Given the description of an element on the screen output the (x, y) to click on. 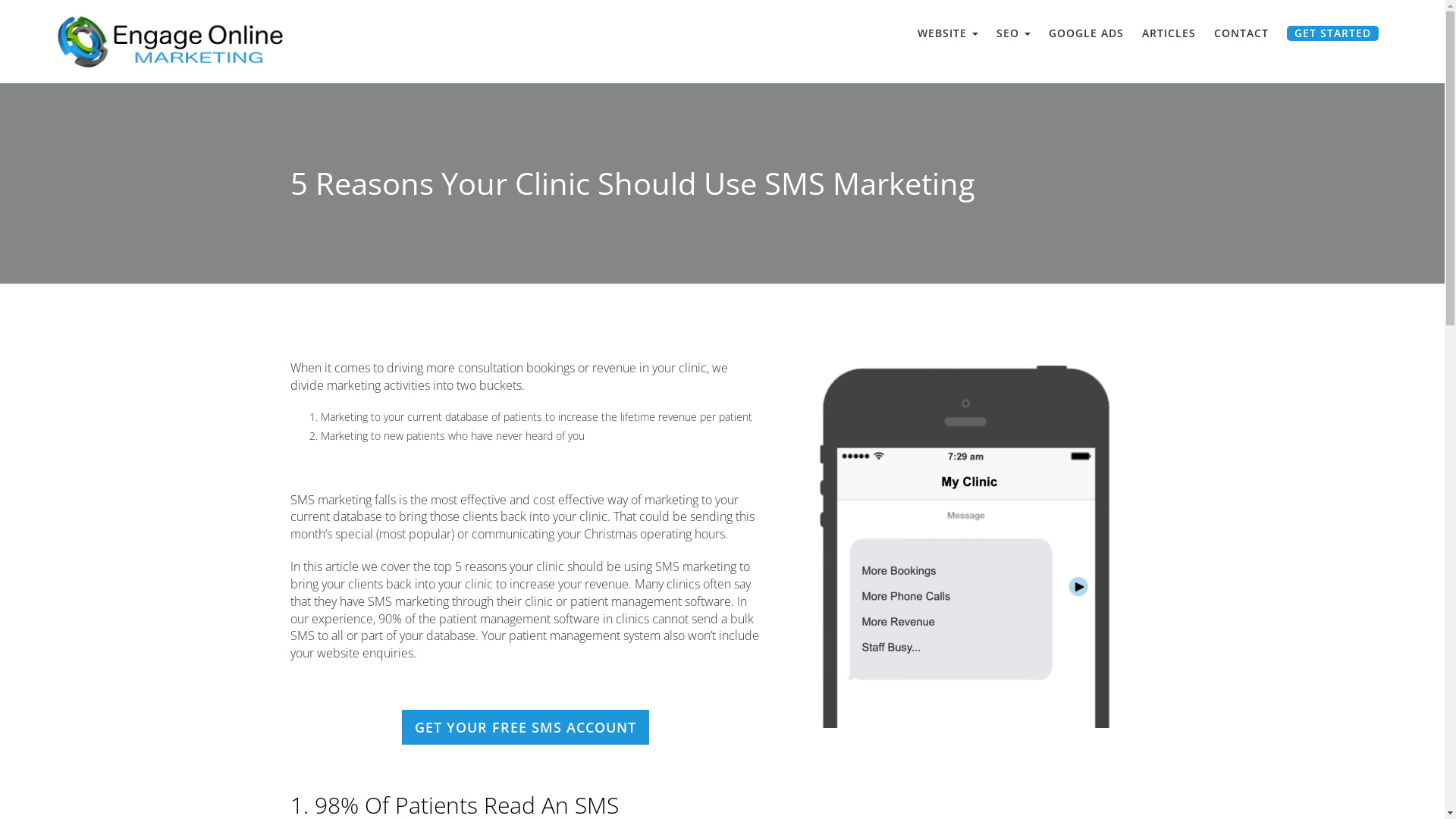
CONTACT Element type: text (1240, 31)
WEBSITE Element type: text (947, 31)
SEO Element type: text (1013, 31)
GET YOUR FREE SMS ACCOUNT Element type: text (525, 726)
ARTICLES Element type: text (1168, 31)
GET STARTED Element type: text (1332, 31)
GOOGLE ADS Element type: text (1085, 31)
